Given the description of an element on the screen output the (x, y) to click on. 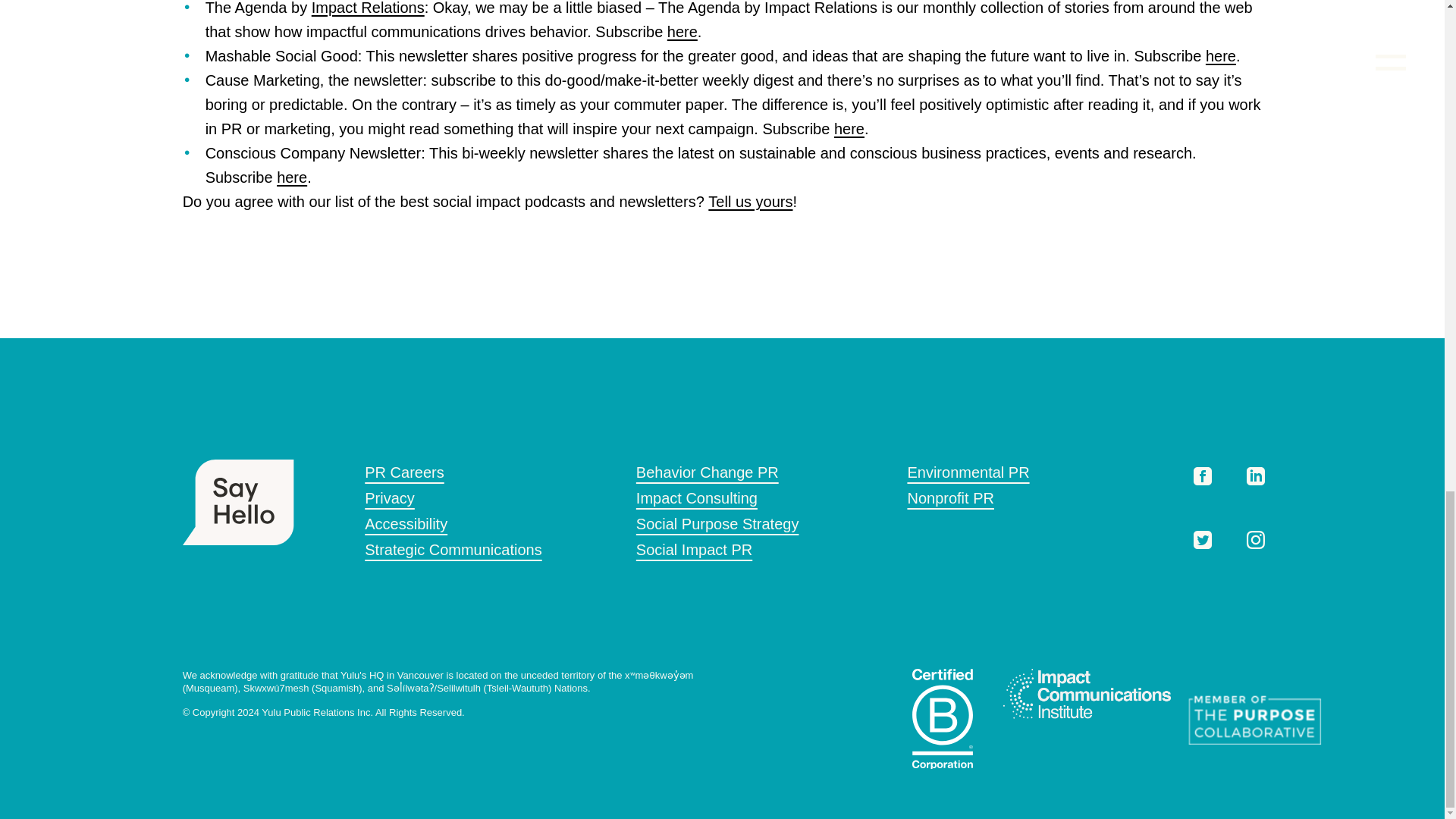
here (1220, 55)
Tell us yours (749, 201)
here (849, 128)
here (681, 31)
here (291, 176)
Impact Relations (368, 7)
